Given the description of an element on the screen output the (x, y) to click on. 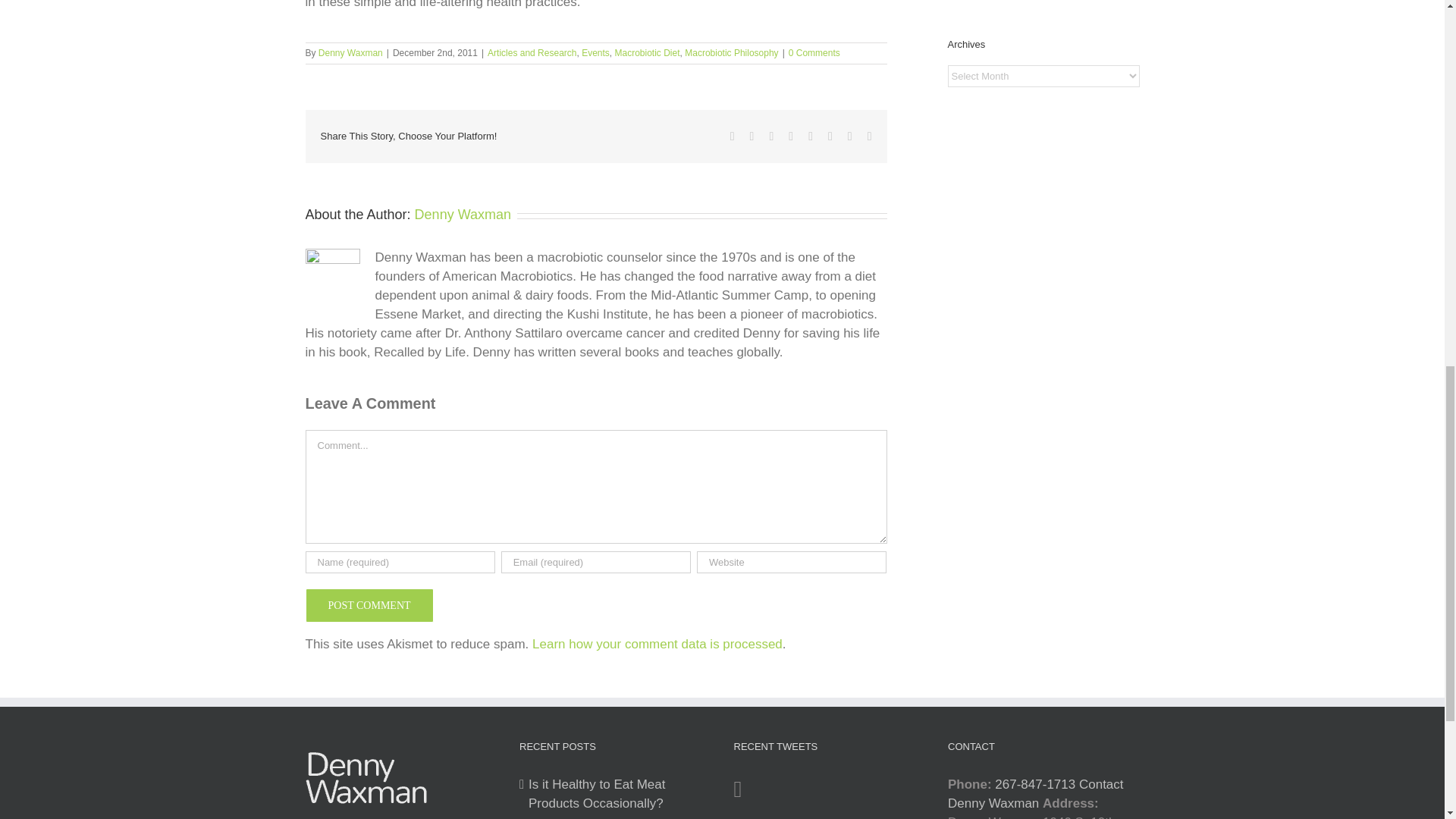
Posts by Denny Waxman (350, 52)
Denny Waxman (350, 52)
Posts by Denny Waxman (462, 214)
Articles and Research (531, 52)
Post Comment (368, 605)
